Given the description of an element on the screen output the (x, y) to click on. 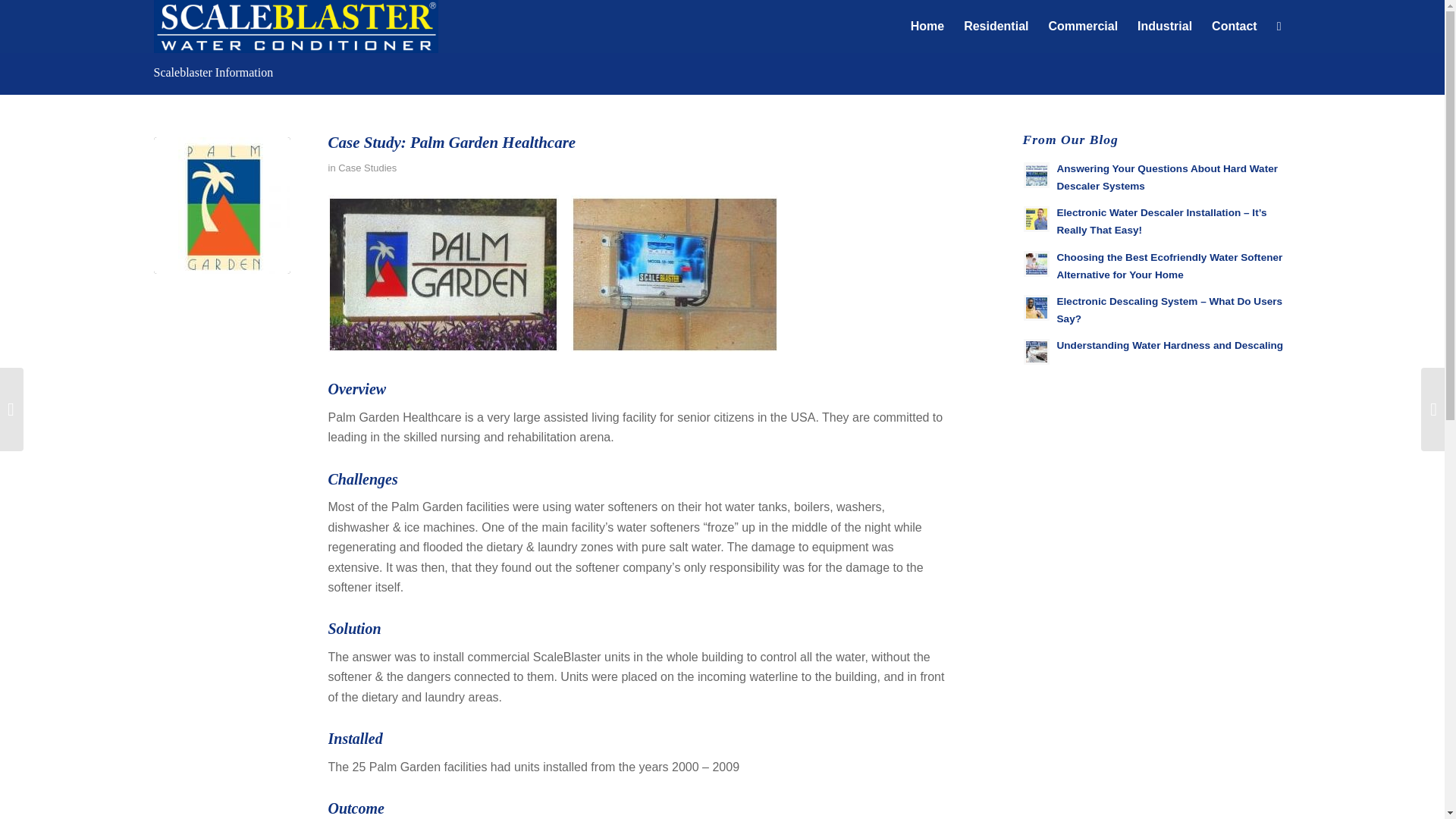
Scaleblaster Information (212, 72)
Commercial (1082, 26)
Industrial (1164, 26)
Residential (995, 26)
Permanent Link: Scaleblaster Information (212, 72)
Case Studies (366, 167)
Home (927, 26)
Case Study: Palm Garden Healthcare (220, 205)
Contact (1234, 26)
